Given the description of an element on the screen output the (x, y) to click on. 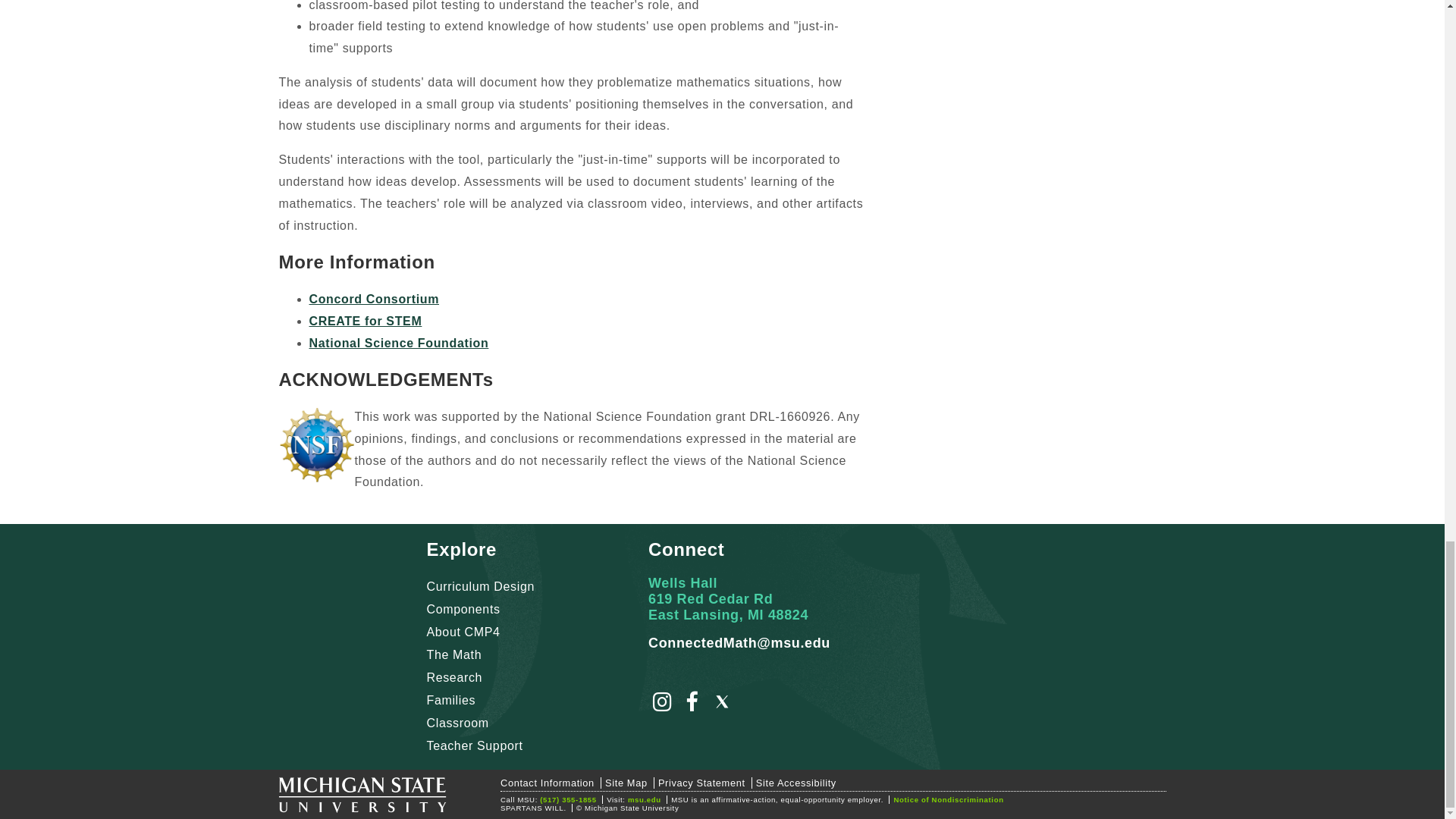
Call MSU (568, 799)
Instagram (662, 704)
Michigan State University (362, 798)
X (722, 704)
